Given the description of an element on the screen output the (x, y) to click on. 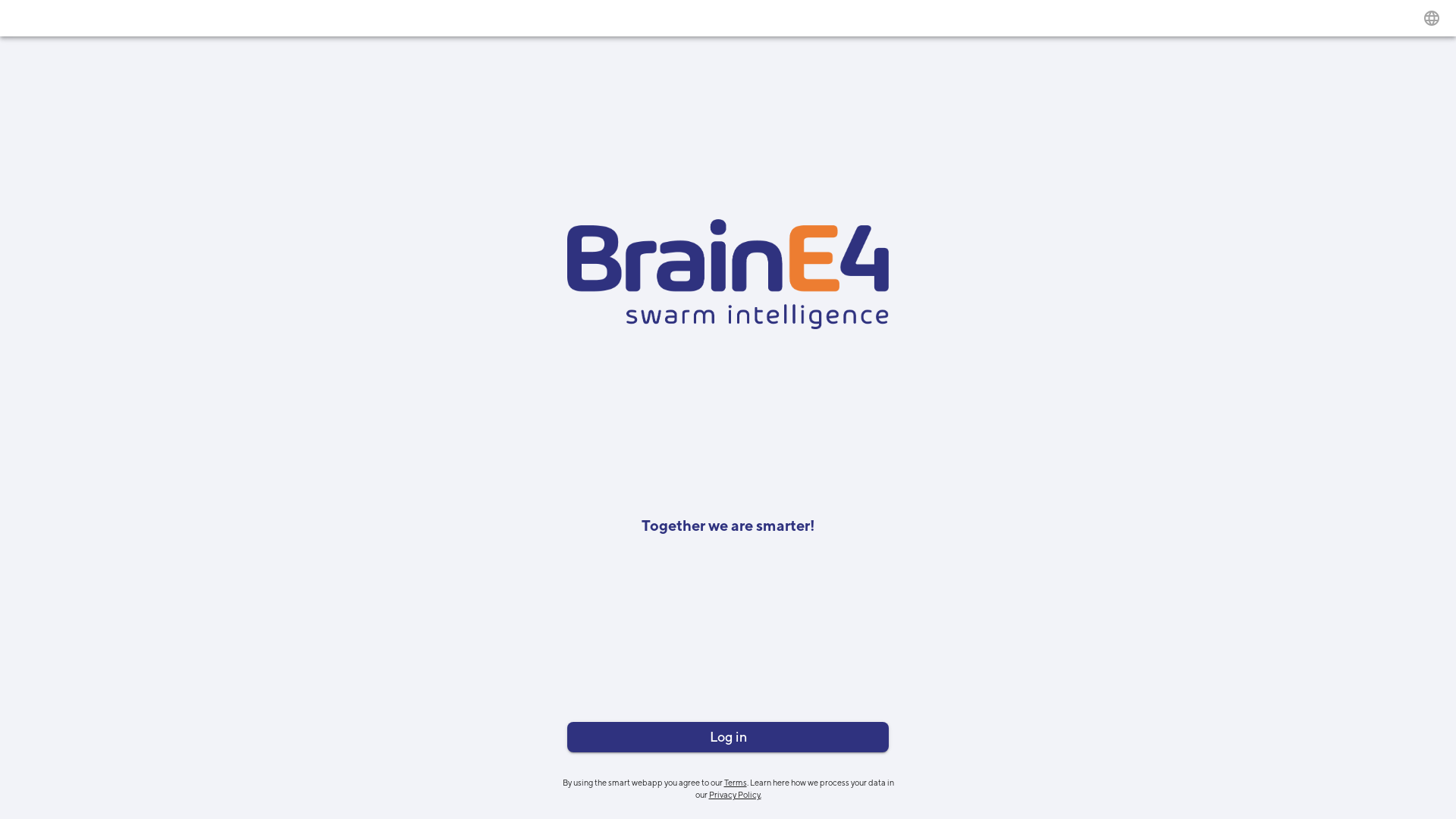
Privacy Policy. Element type: text (734, 794)
Terms Element type: text (734, 781)
Log in Element type: text (727, 736)
